Given the description of an element on the screen output the (x, y) to click on. 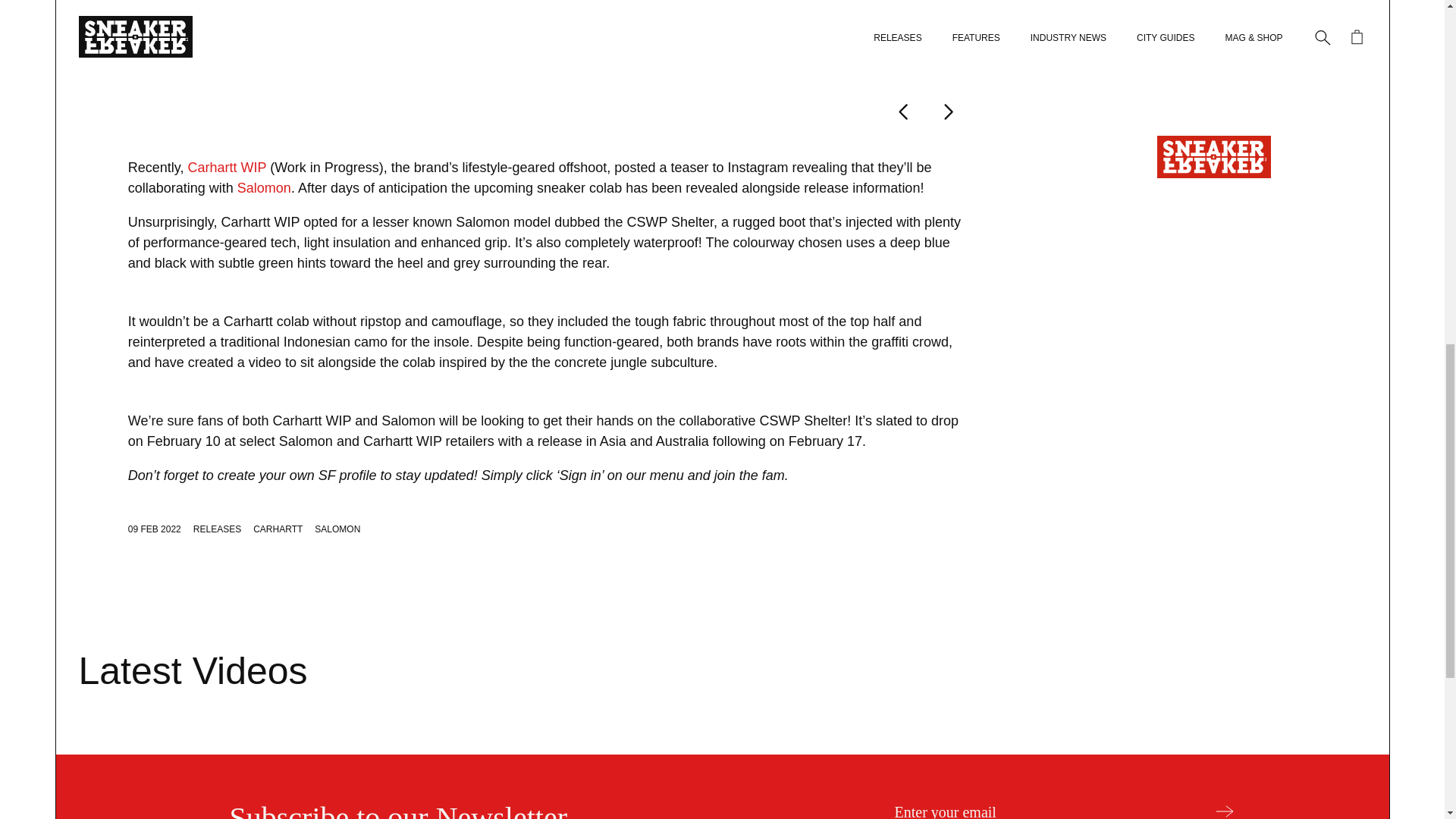
RELEASES (217, 529)
Salomon (264, 187)
CARHARTT (277, 529)
SALOMON (336, 529)
Carhartt WIP (226, 167)
